Given the description of an element on the screen output the (x, y) to click on. 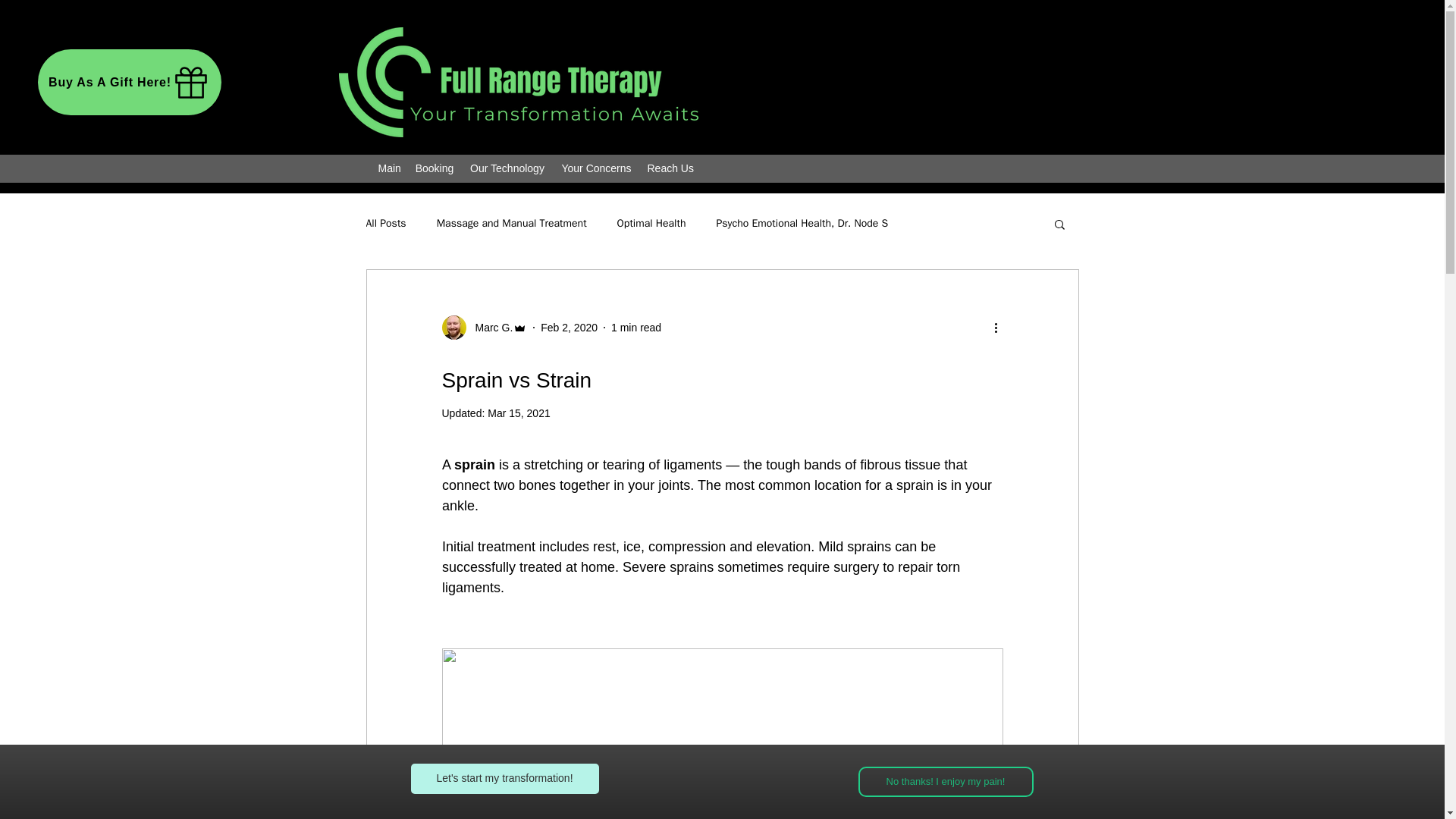
Let's start my transformation! (504, 778)
All Posts (385, 223)
Marc G. (484, 327)
Main (388, 168)
Mar 15, 2021 (518, 413)
Booking (434, 168)
Optimal Health (651, 223)
1 min read (636, 327)
Reach Us (670, 168)
No thanks! I enjoy my pain! (946, 781)
Psycho Emotional Health, Dr. Node S (802, 223)
Massage and Manual Treatment (511, 223)
Your Concerns (596, 168)
Feb 2, 2020 (568, 327)
Marc G. (488, 327)
